Given the description of an element on the screen output the (x, y) to click on. 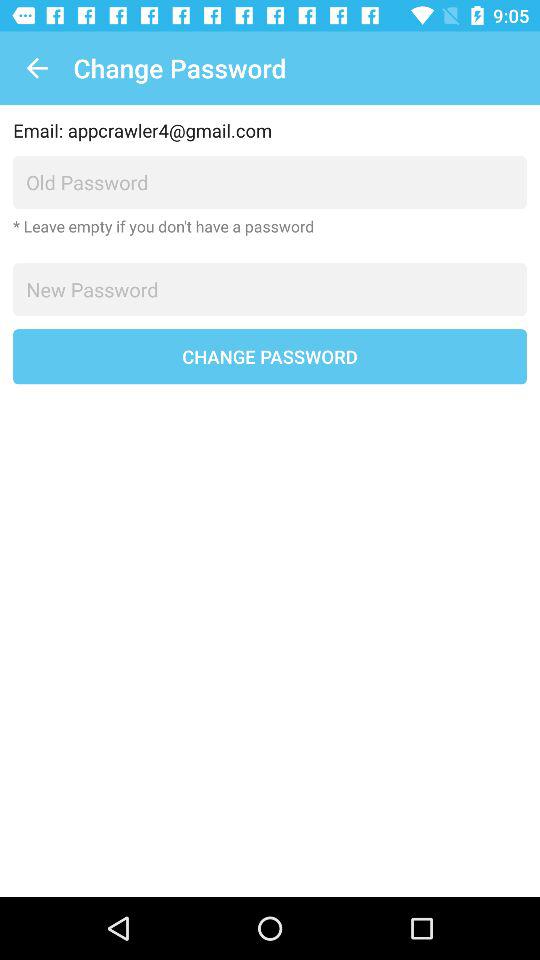
old password textfield (269, 182)
